Given the description of an element on the screen output the (x, y) to click on. 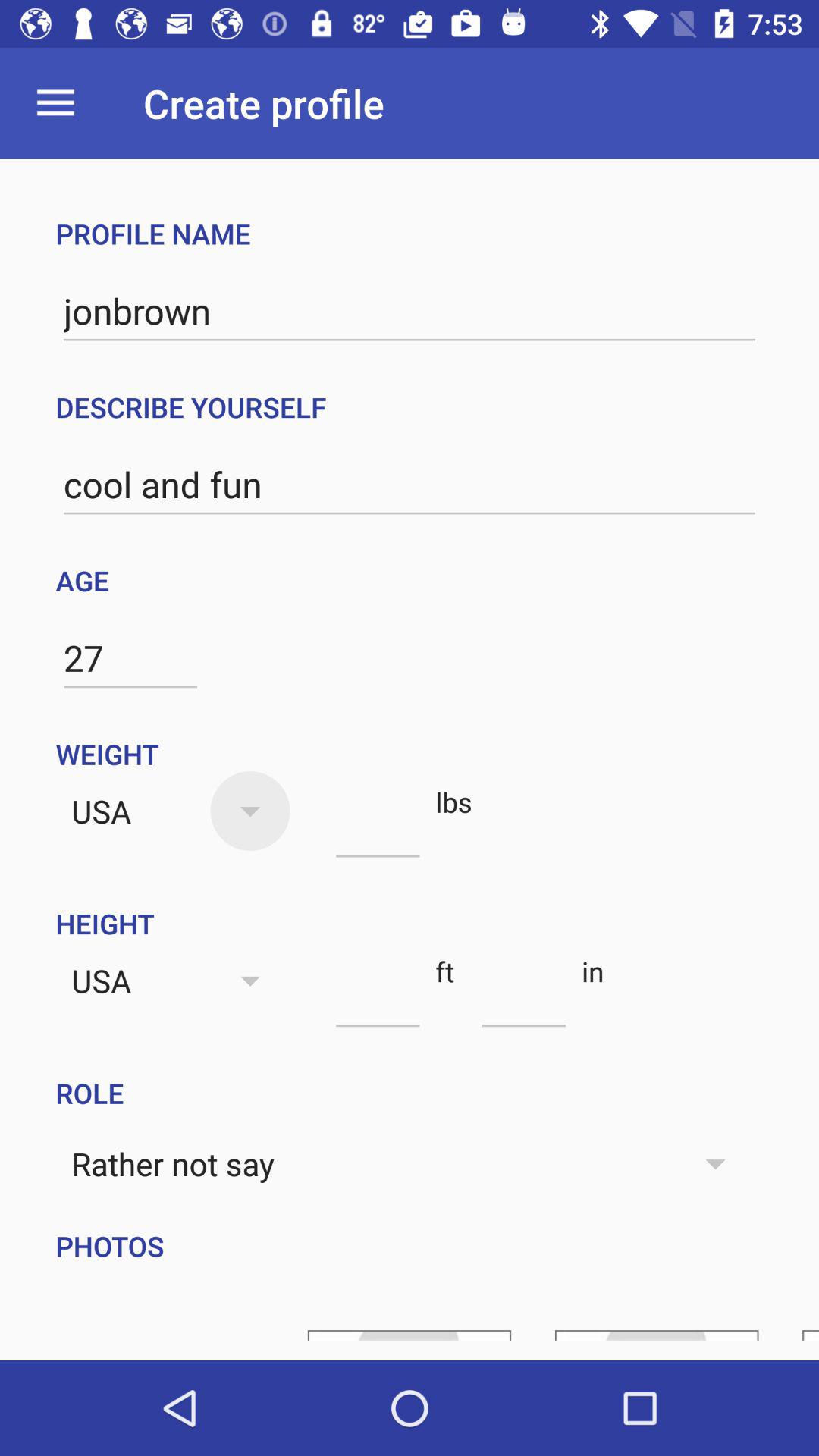
scroll until jonbrown item (409, 311)
